Given the description of an element on the screen output the (x, y) to click on. 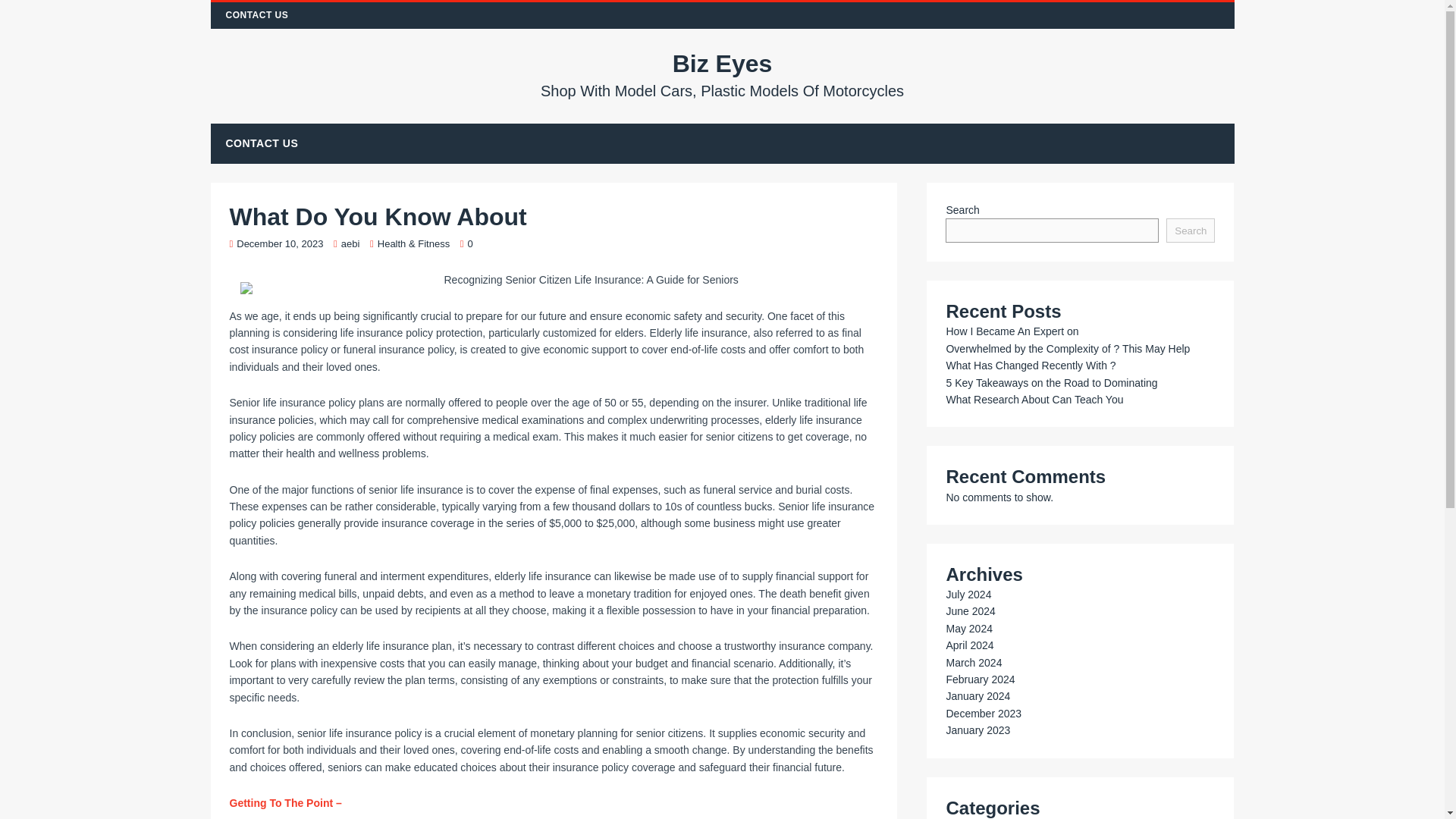
January 2023 (977, 729)
What Has Changed Recently With ? (1029, 365)
January 2024 (977, 695)
March 2024 (972, 662)
Biz Eyes (722, 74)
April 2024 (968, 645)
February 2024 (979, 679)
Overwhelmed by the Complexity of ? This May Help (1066, 348)
December 2023 (983, 713)
June 2024 (969, 611)
